Given the description of an element on the screen output the (x, y) to click on. 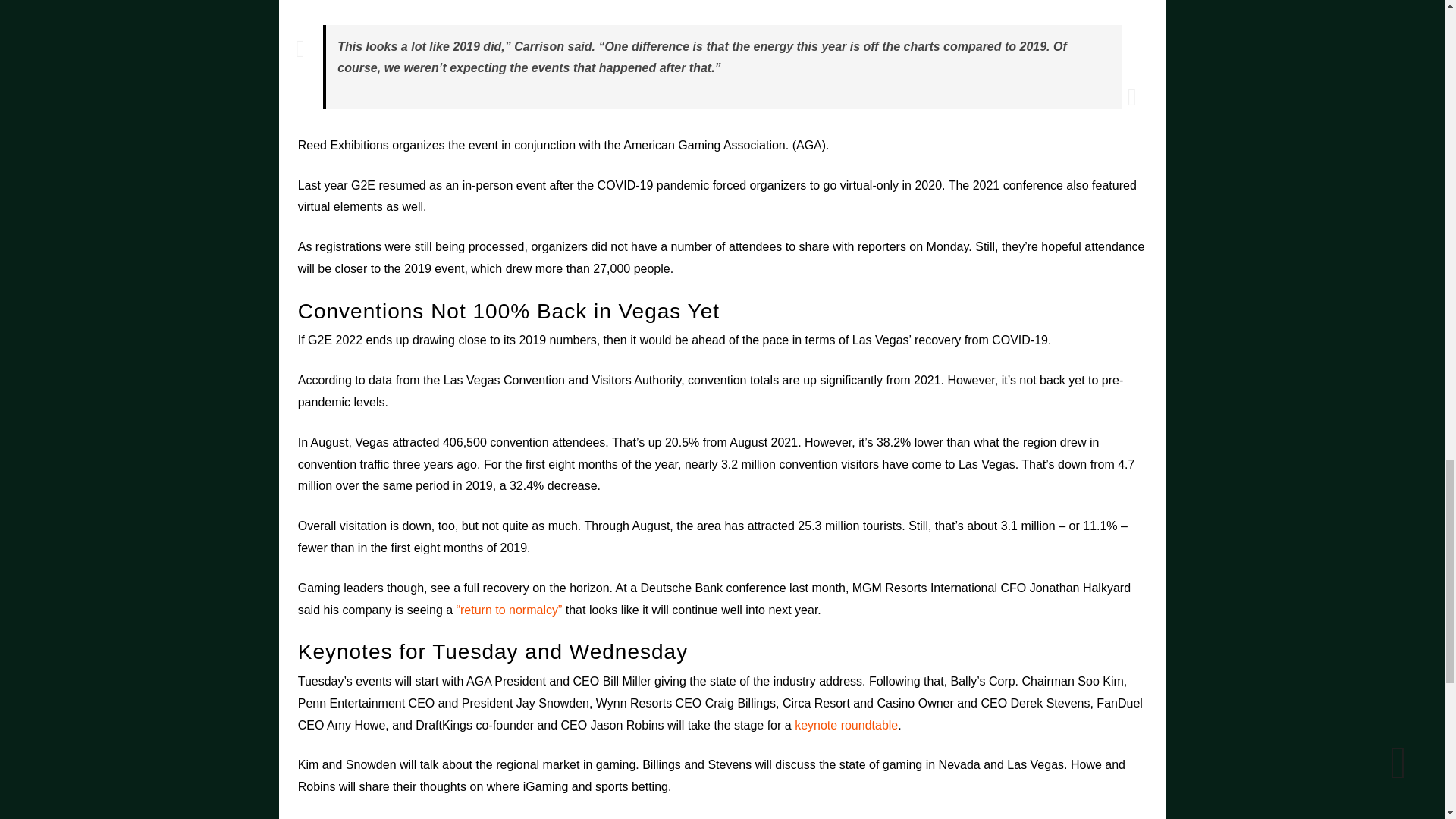
keynote roundtable (846, 725)
